Given the description of an element on the screen output the (x, y) to click on. 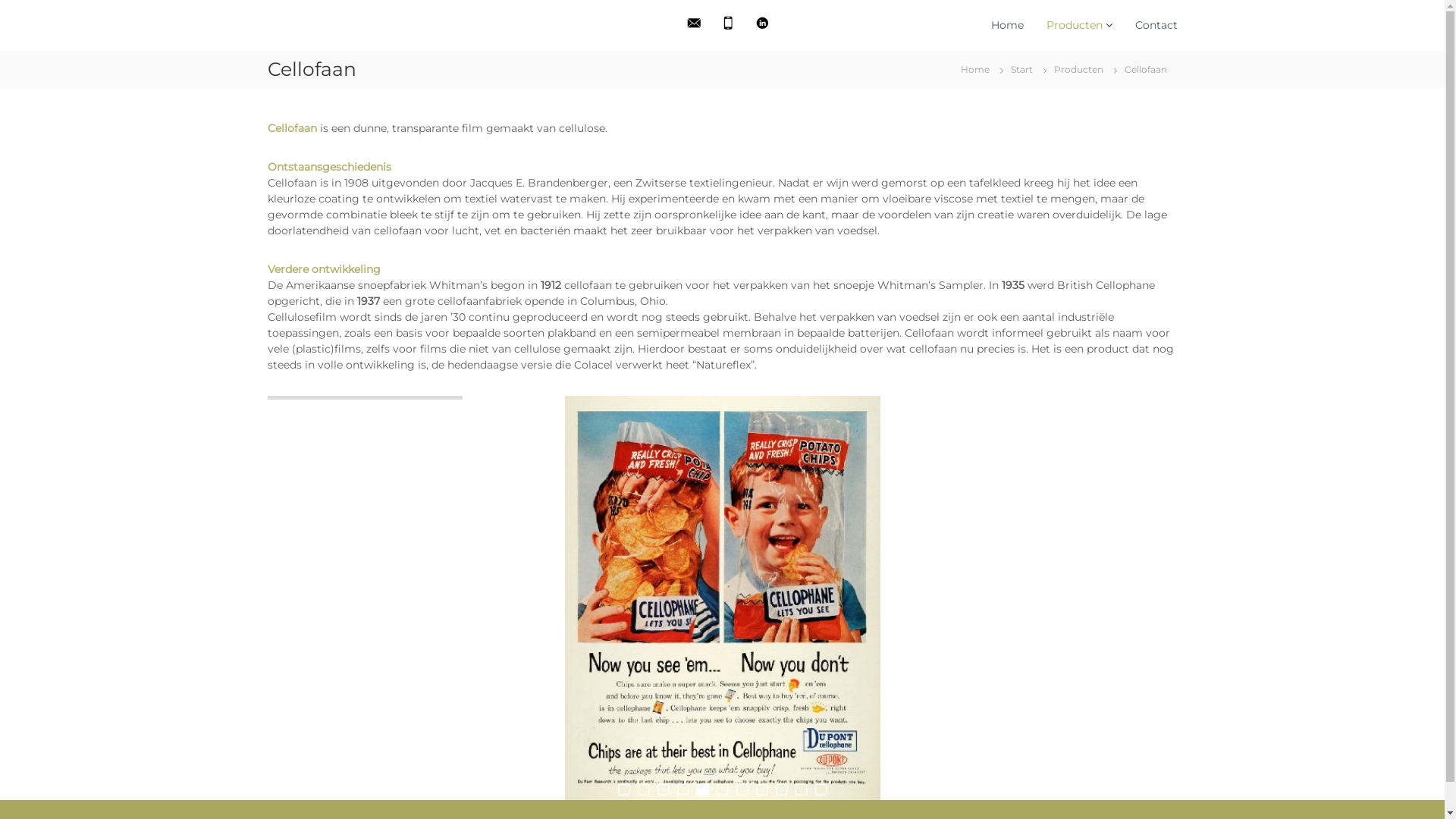
Bel ons Element type: hover (727, 22)
Stuur ons een e-mail Element type: hover (693, 22)
Volg ons op LinkedIn Element type: hover (762, 22)
Home Element type: text (974, 68)
Contact Element type: text (1155, 24)
Start Element type: text (1020, 68)
Home Element type: text (1006, 24)
Colacel Element type: text (282, 88)
Producten Element type: text (1074, 24)
Producten Element type: text (1078, 68)
